Given the description of an element on the screen output the (x, y) to click on. 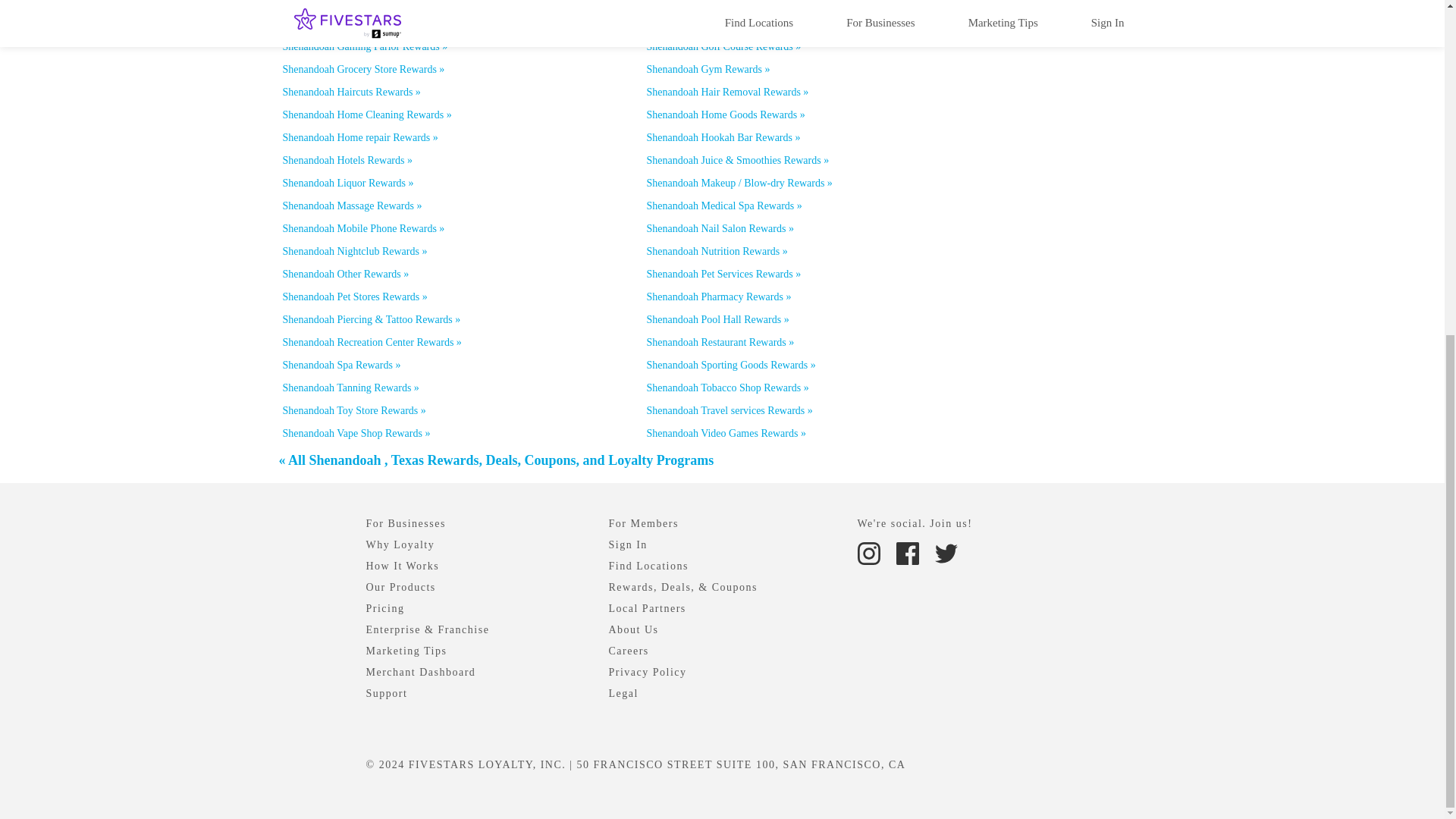
Fivestars Instagram (868, 553)
Support and Customer Service (386, 693)
Fivestars Facebook (908, 552)
Fivestars Facebook (907, 553)
Find Locations (647, 565)
Fivestars Instagram (869, 552)
Fivestars Twitter (945, 553)
Marketing Tips and Blog (405, 650)
Merchant Dashboard and Analytics (420, 672)
Fivestars Twitter (945, 552)
